Given the description of an element on the screen output the (x, y) to click on. 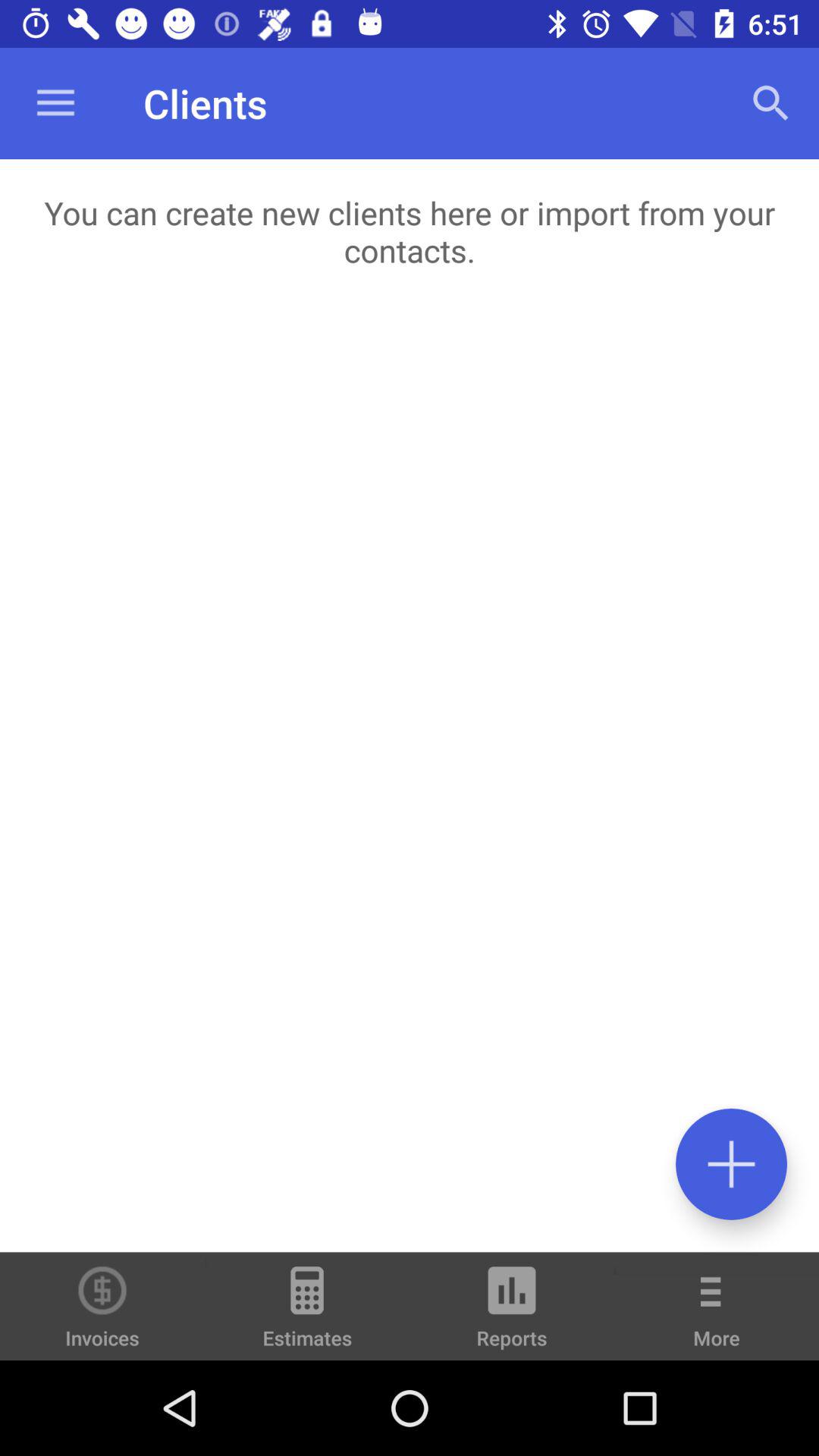
select icon to the right of the reports item (716, 1317)
